Given the description of an element on the screen output the (x, y) to click on. 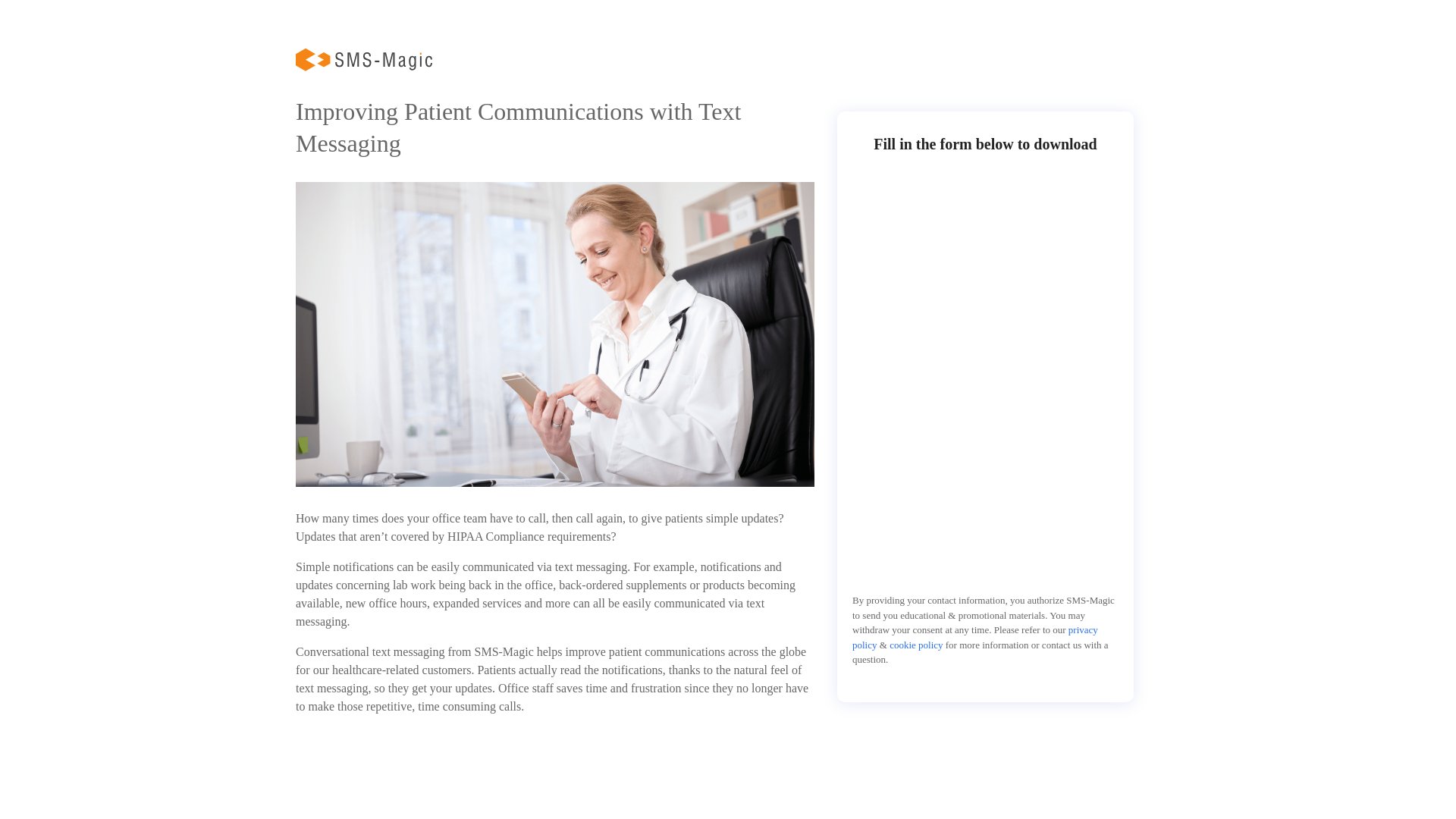
cookie policy (915, 644)
privacy policy (974, 637)
SMS Magic Logo Open file for dark bg (363, 59)
